Given the description of an element on the screen output the (x, y) to click on. 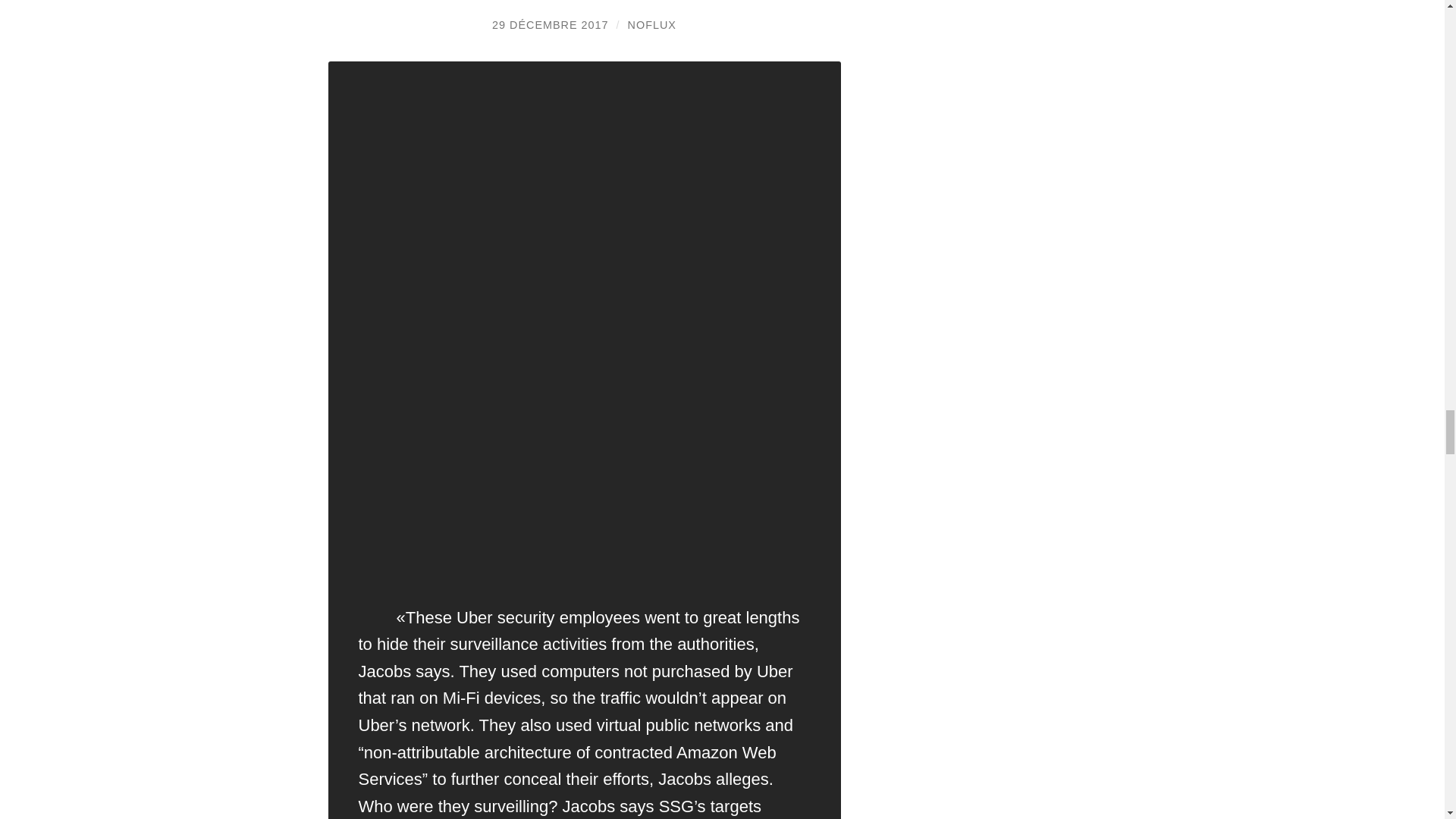
NOFLUX (652, 24)
Articles par noflux (652, 24)
